Given the description of an element on the screen output the (x, y) to click on. 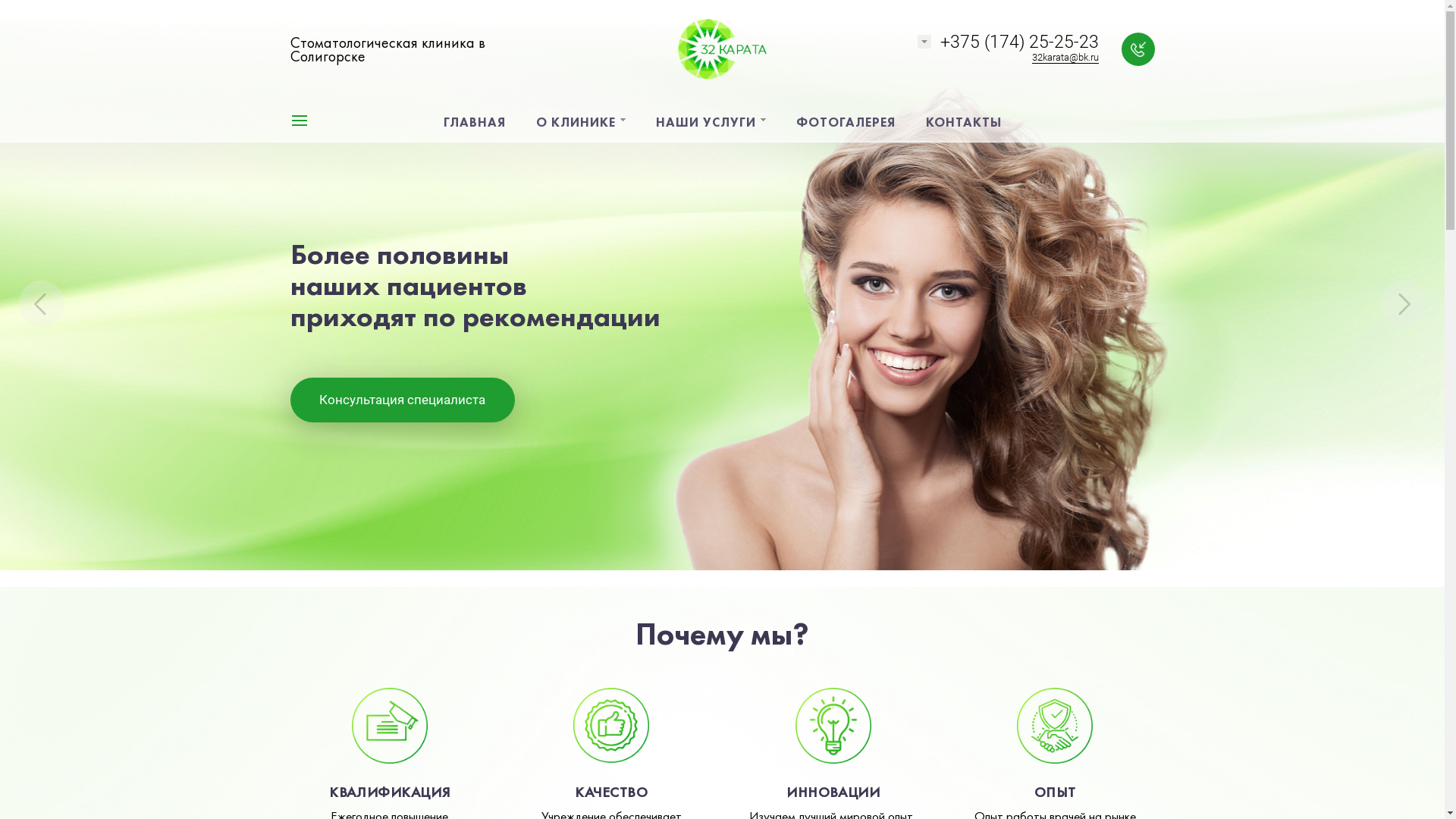
Next Element type: text (1402, 303)
Previous Element type: text (41, 303)
32karata@bk.ru Element type: text (1064, 57)
